Given the description of an element on the screen output the (x, y) to click on. 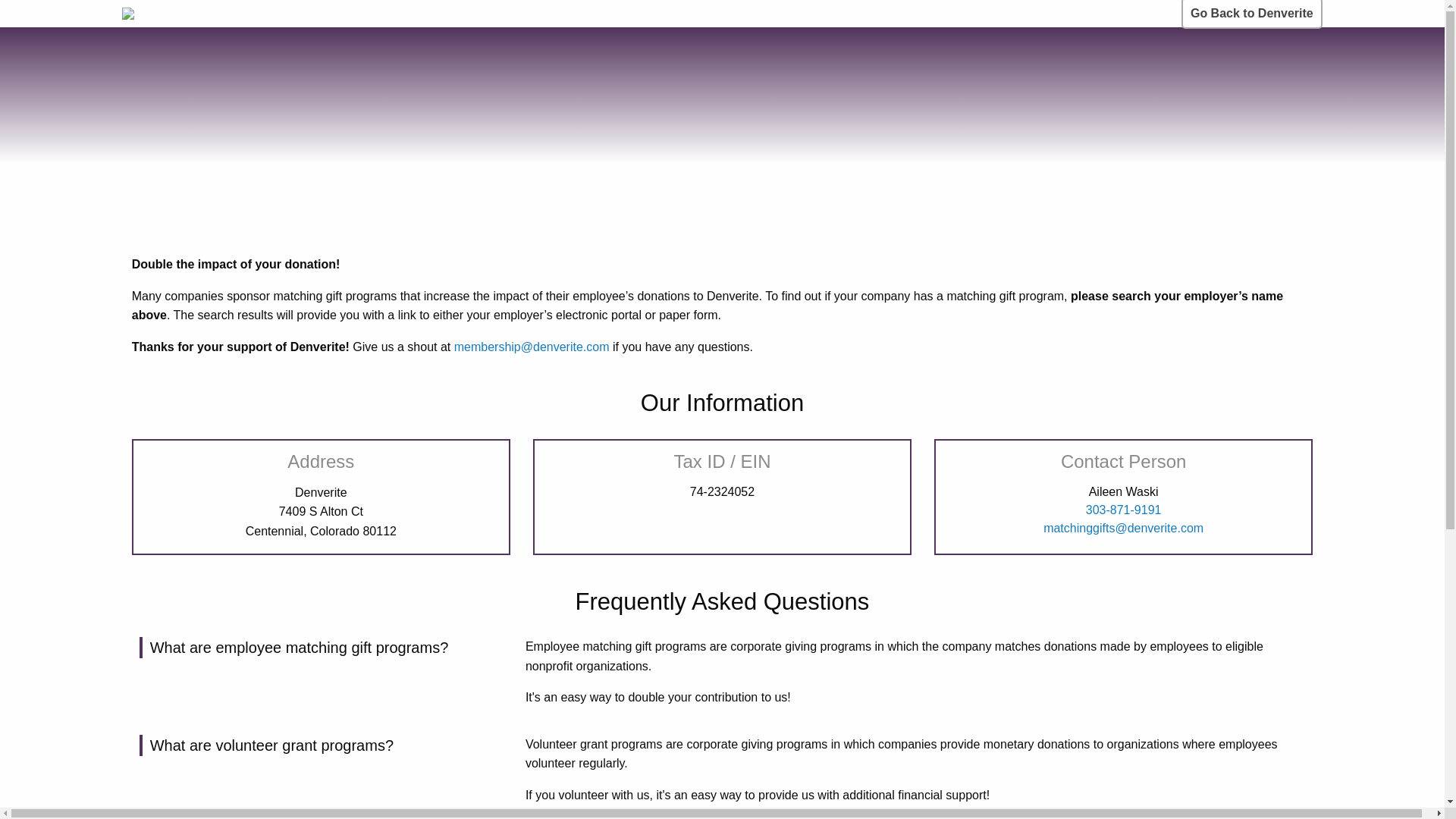
303-871-9191 (1123, 509)
Go Back to Denverite (1251, 14)
